Given the description of an element on the screen output the (x, y) to click on. 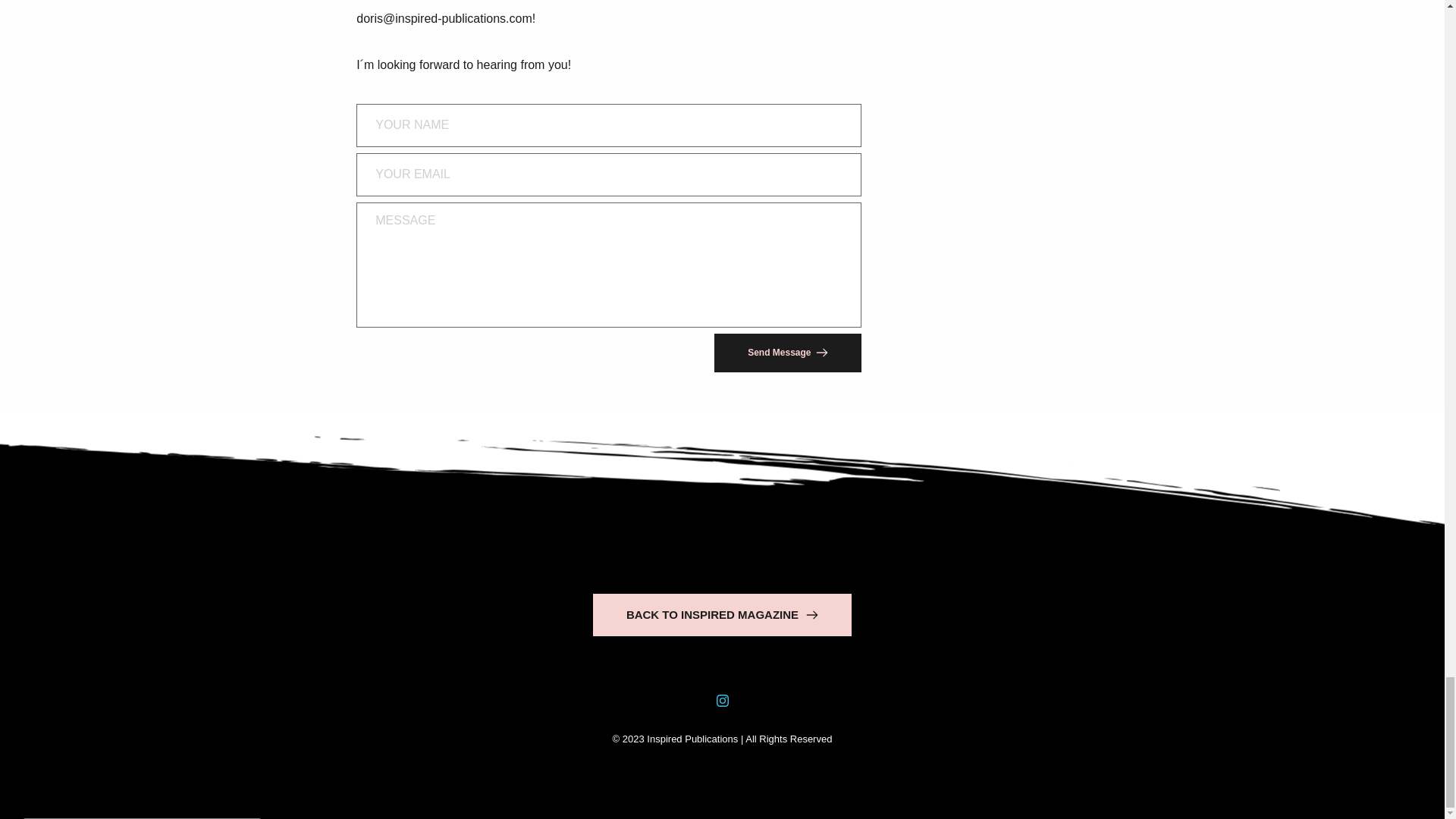
Send Message (787, 351)
BACK TO INSPIRED MAGAZINE (721, 614)
